Given the description of an element on the screen output the (x, y) to click on. 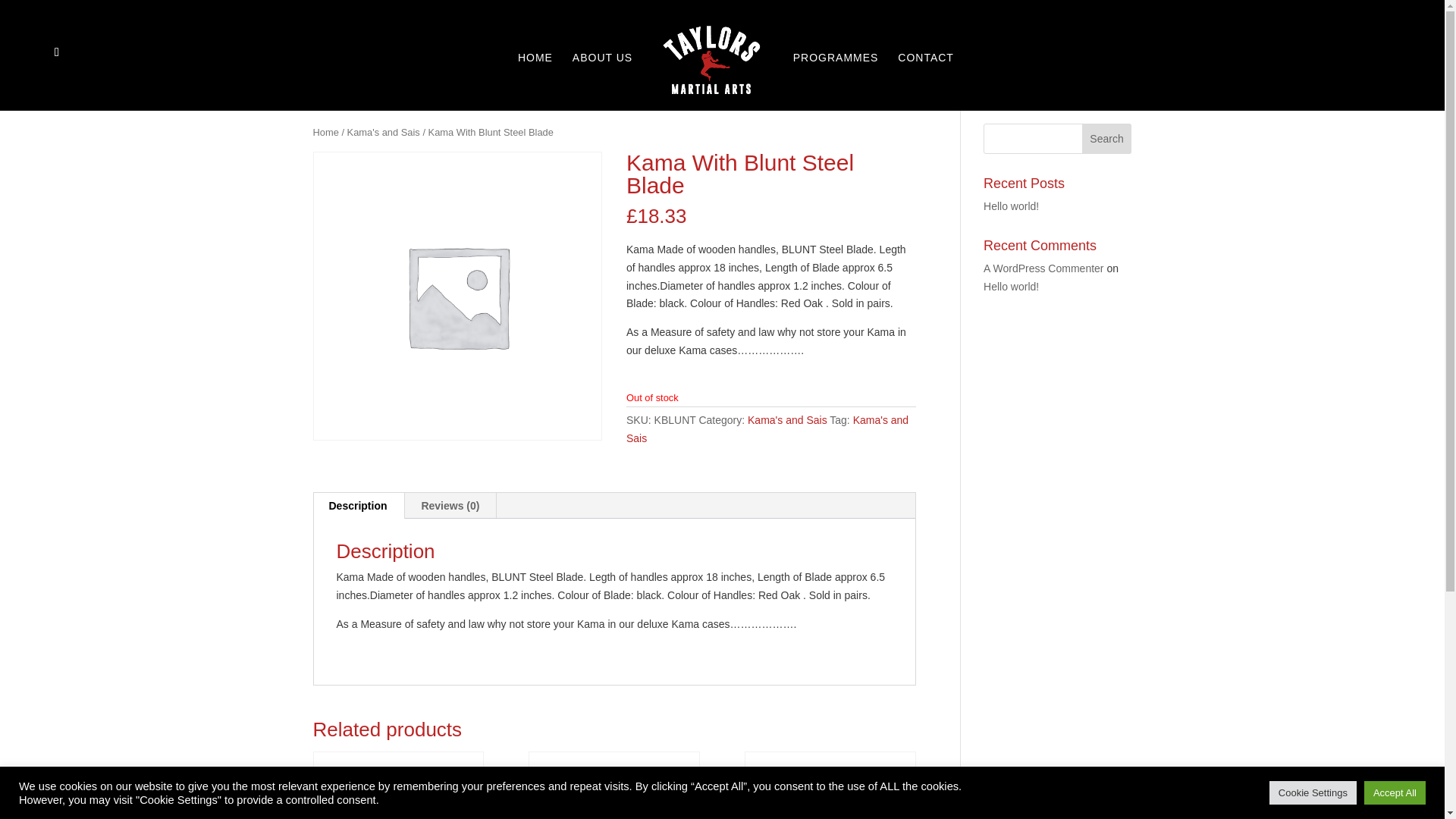
Cookie Settings (1312, 792)
Home (325, 132)
Kama's and Sais (787, 419)
CONTACT (925, 73)
Search (1106, 138)
Hello world! (1011, 286)
Hello world! (1011, 205)
PROGRAMMES (836, 73)
Accept All (1394, 792)
Kama's and Sais (383, 132)
Description (358, 505)
Kama's and Sais (767, 429)
A WordPress Commenter (1043, 268)
ABOUT US (601, 73)
Search (1106, 138)
